Given the description of an element on the screen output the (x, y) to click on. 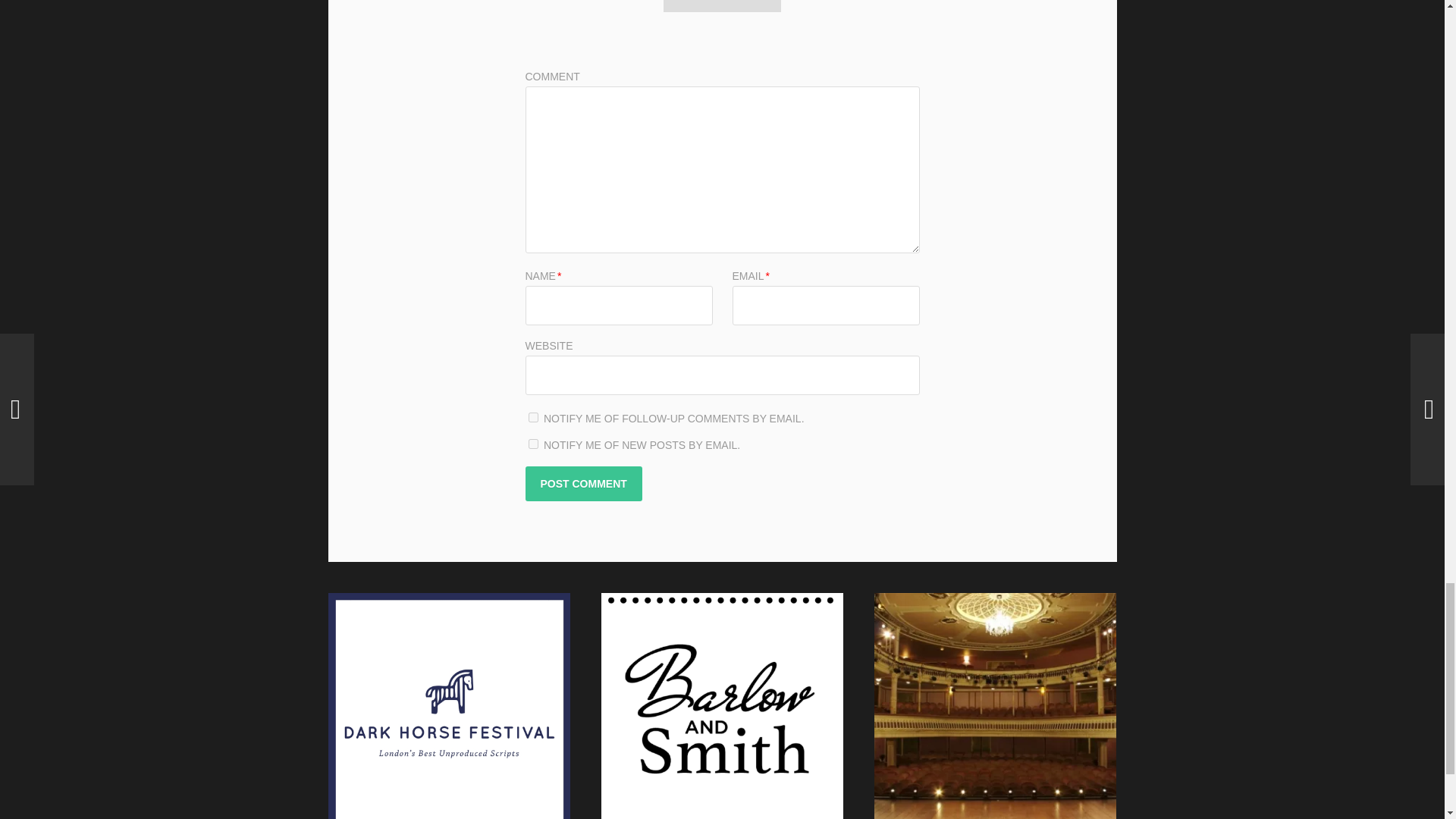
subscribe (532, 443)
subscribe (532, 417)
Post Comment (583, 483)
Post Comment (583, 483)
